Given the description of an element on the screen output the (x, y) to click on. 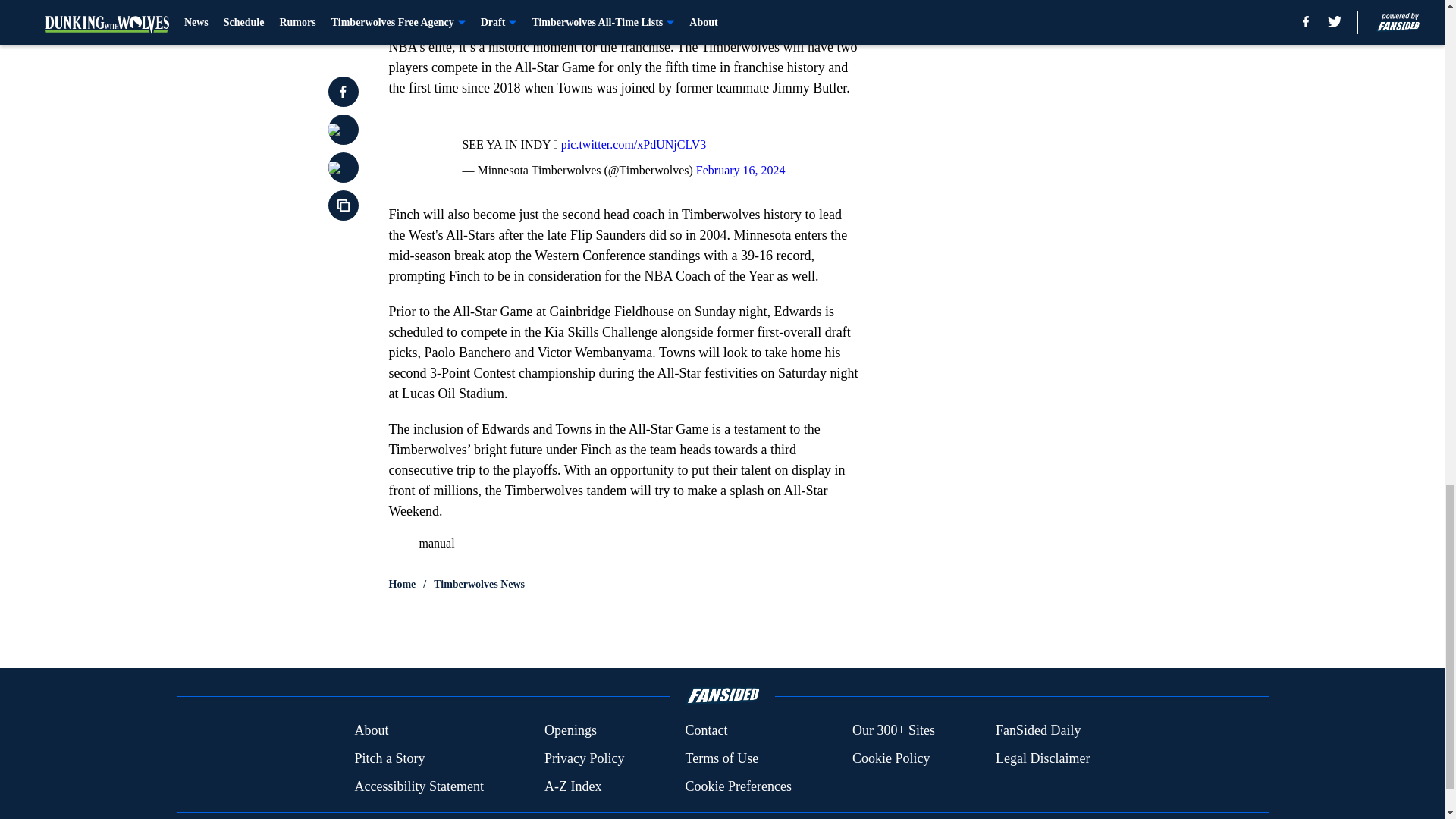
Timberwolves News (478, 584)
About (370, 730)
February 16, 2024 (740, 169)
Openings (570, 730)
Home (401, 584)
